Given the description of an element on the screen output the (x, y) to click on. 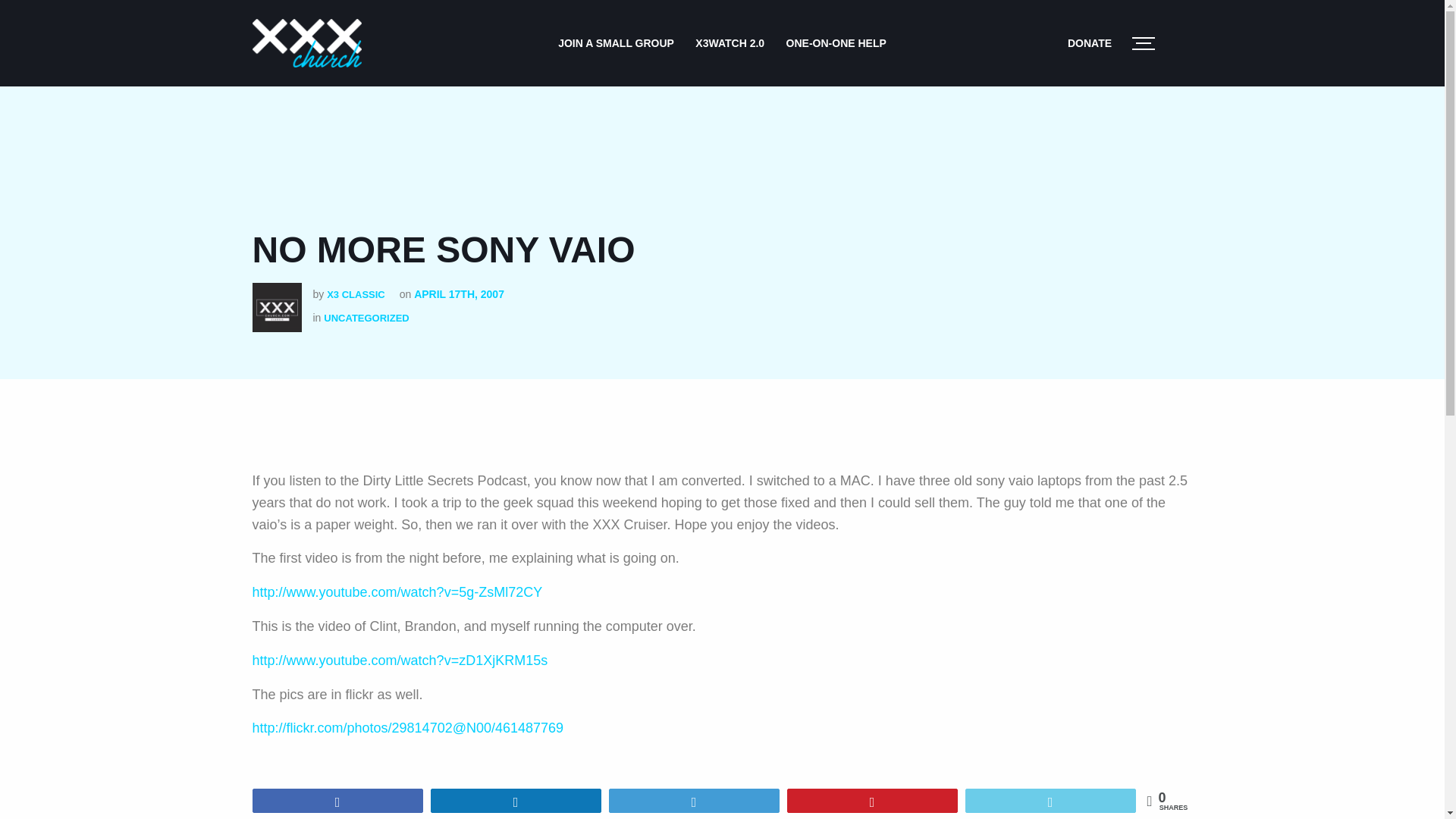
The Night Before Video (396, 591)
X3WATCH 2.0 (729, 43)
The Running Over (399, 660)
ONE-ON-ONE HELP (836, 43)
The Running Over (253, 761)
JOIN A SMALL GROUP (615, 43)
DONATE (1089, 43)
